Given the description of an element on the screen output the (x, y) to click on. 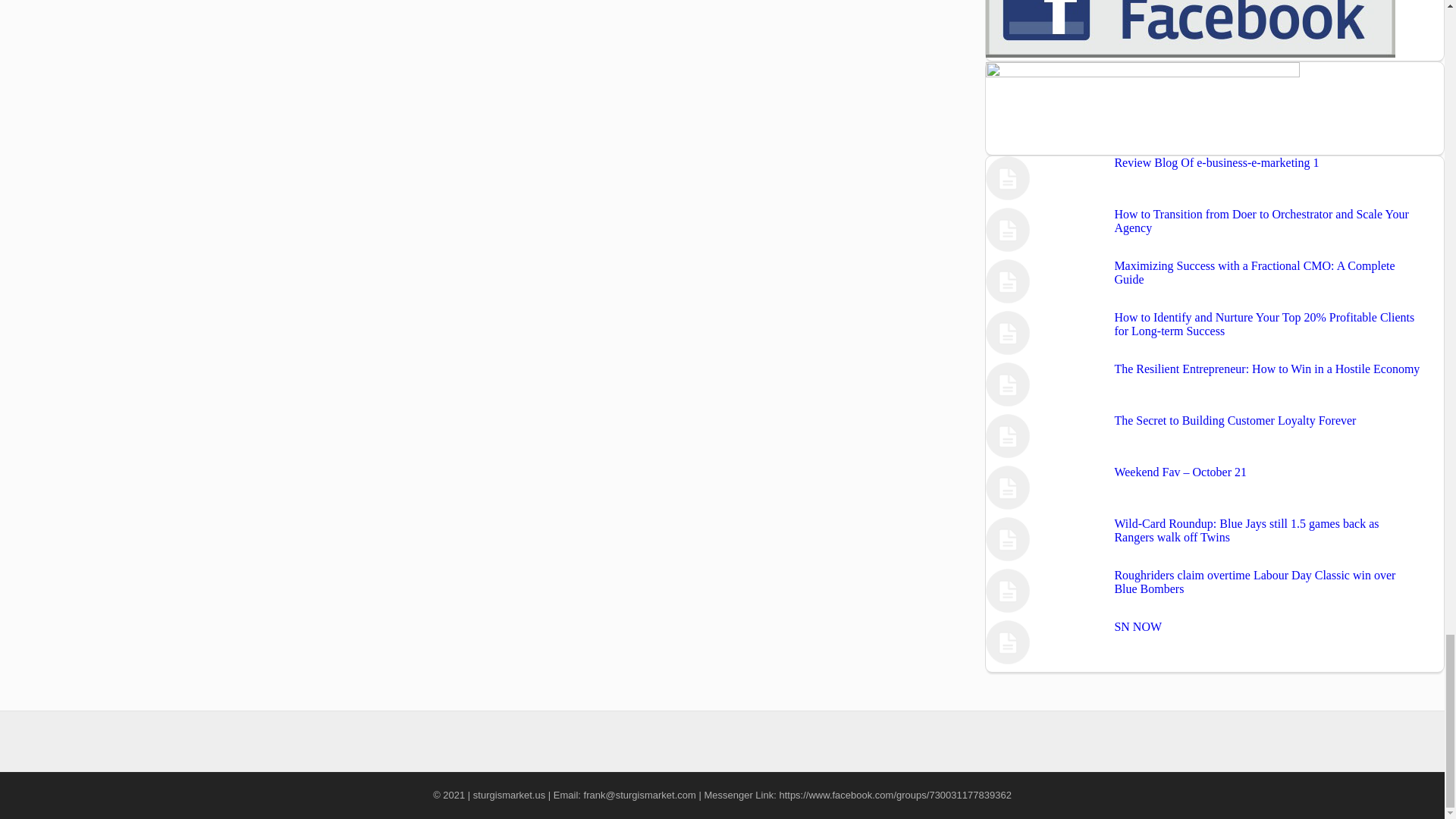
The Resilient Entrepreneur: How to Win in a Hostile Economy (1266, 368)
SN NOW (1137, 626)
The Secret to Building Customer Loyalty Forever (1234, 420)
Review Blog Of e-business-e-marketing 1 (1216, 162)
Maximizing Success with a Fractional CMO: A Complete Guide (1253, 272)
